Given the description of an element on the screen output the (x, y) to click on. 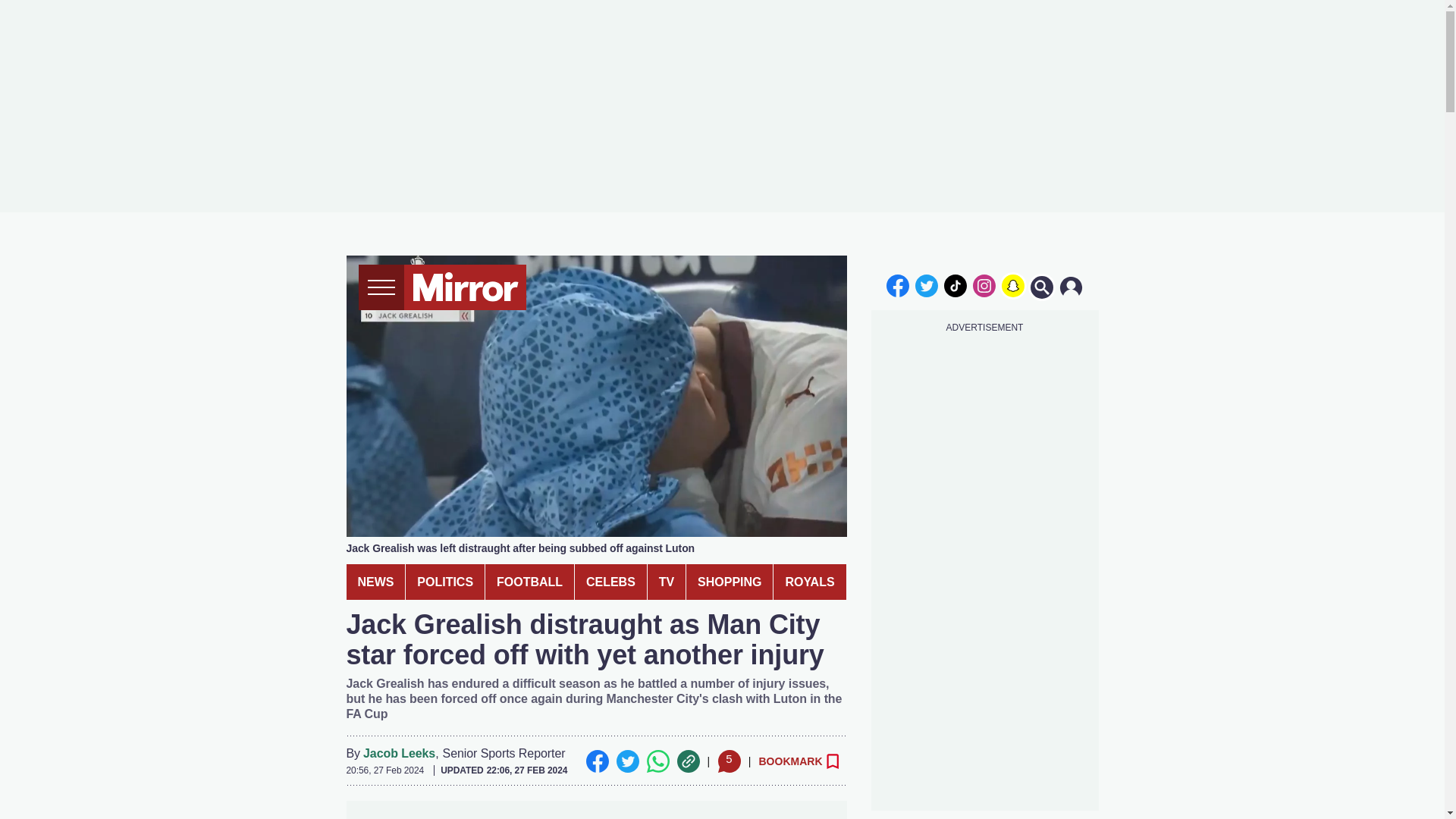
CELEBS (610, 581)
snapchat (1012, 285)
POLITICS (445, 581)
tiktok (955, 285)
instagram (984, 285)
Twitter (627, 761)
facebook (897, 285)
Facebook (596, 761)
FOOTBALL (528, 581)
twitter (926, 285)
